Given the description of an element on the screen output the (x, y) to click on. 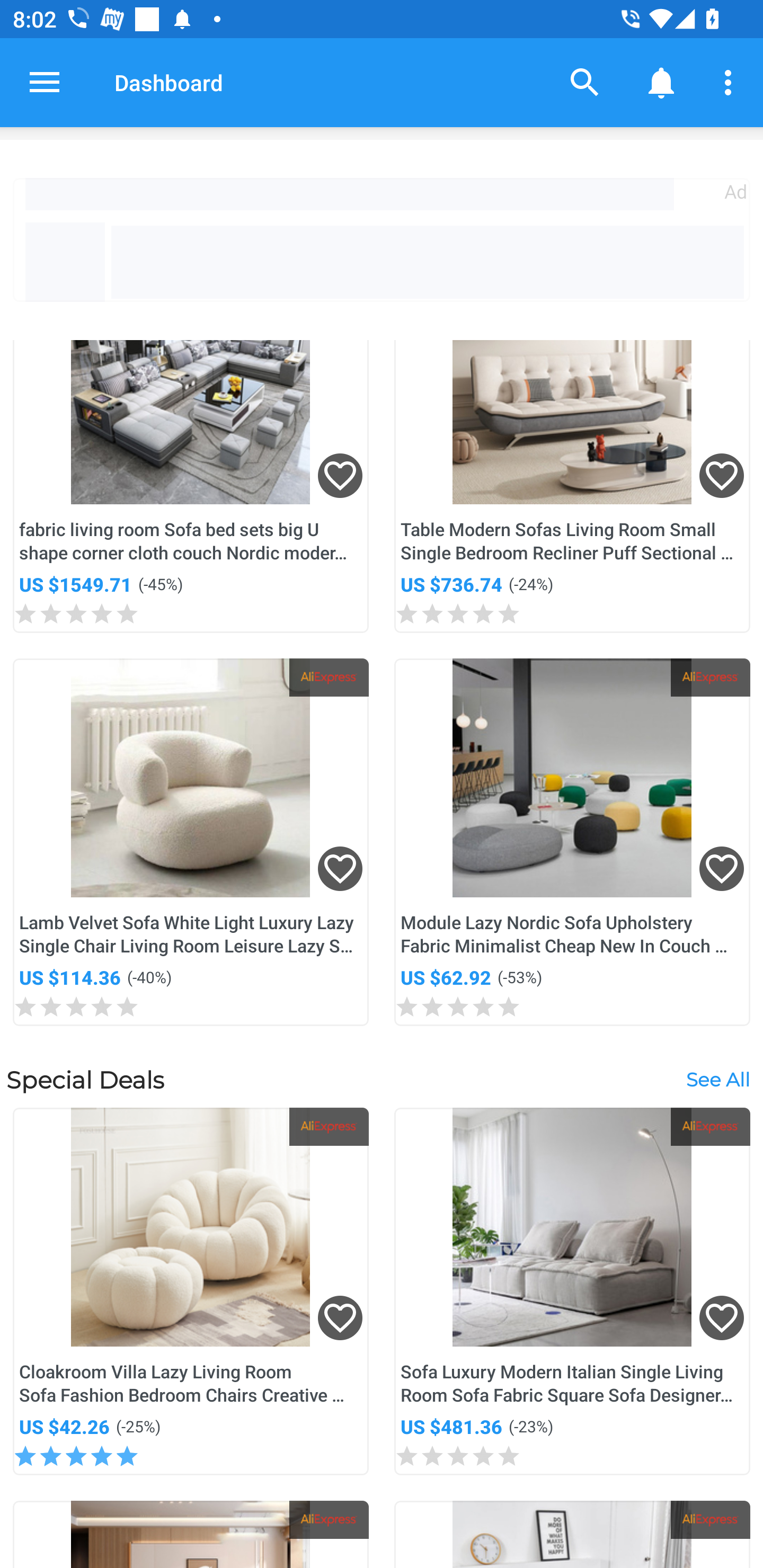
Open navigation drawer (44, 82)
Search (585, 81)
More options (731, 81)
See All (717, 1078)
